Given the description of an element on the screen output the (x, y) to click on. 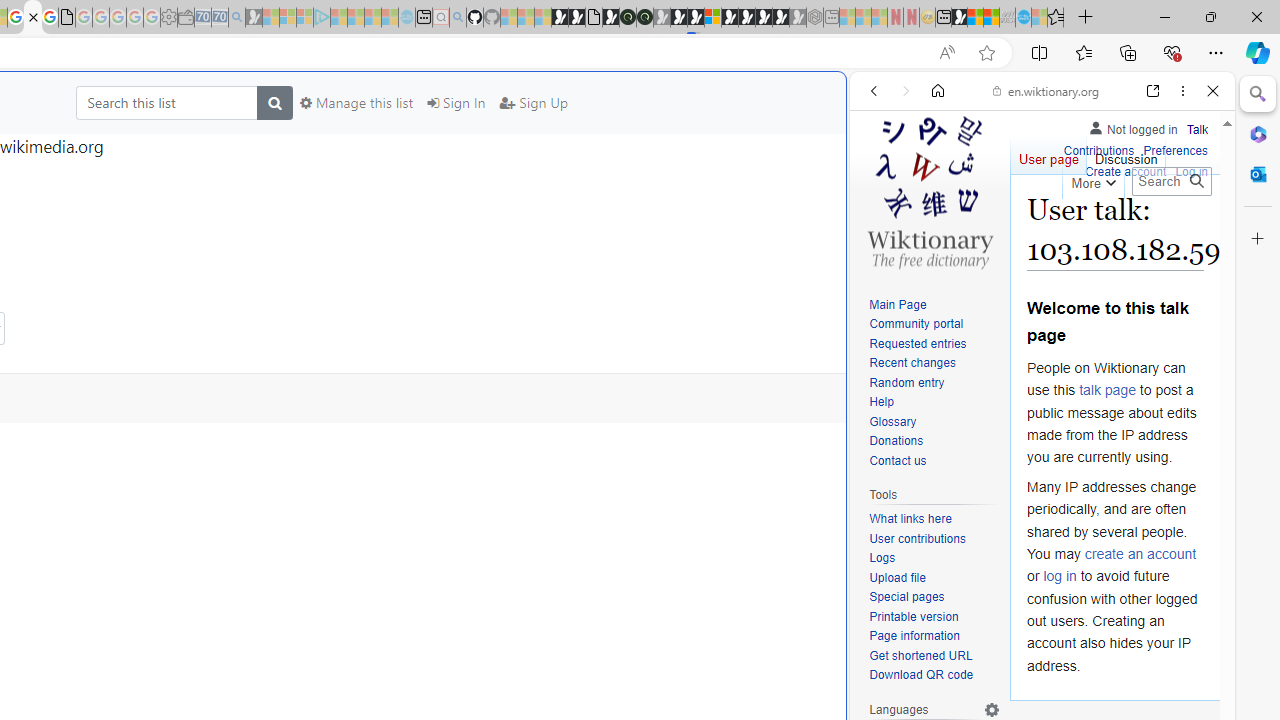
Donations (896, 441)
What links here (934, 519)
Search or enter web address (343, 191)
Talk (1197, 129)
Community portal (934, 324)
User page (1048, 154)
Preferences (1189, 228)
World - MSN (975, 17)
WEB   (882, 228)
Frequently visited (418, 265)
